Given the description of an element on the screen output the (x, y) to click on. 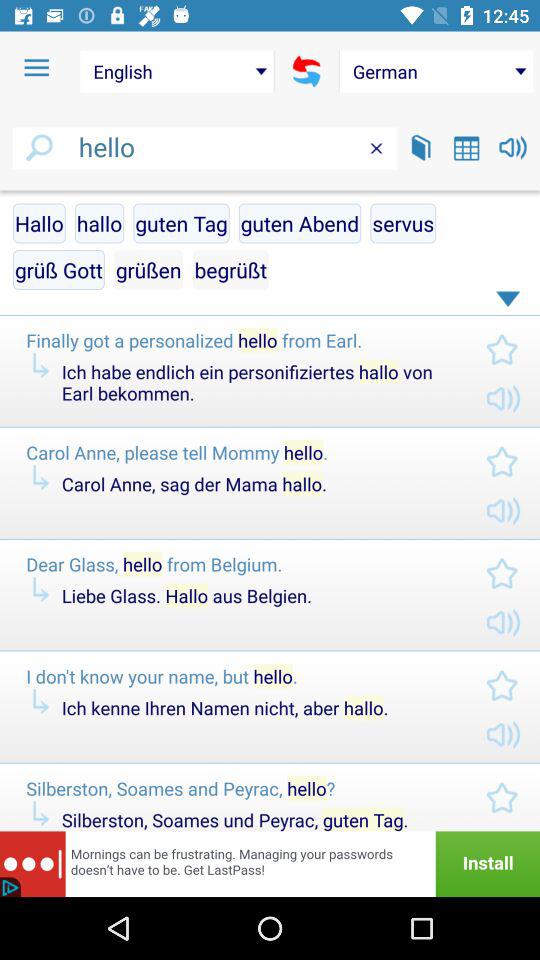
open the icon above the hello (306, 71)
